Given the description of an element on the screen output the (x, y) to click on. 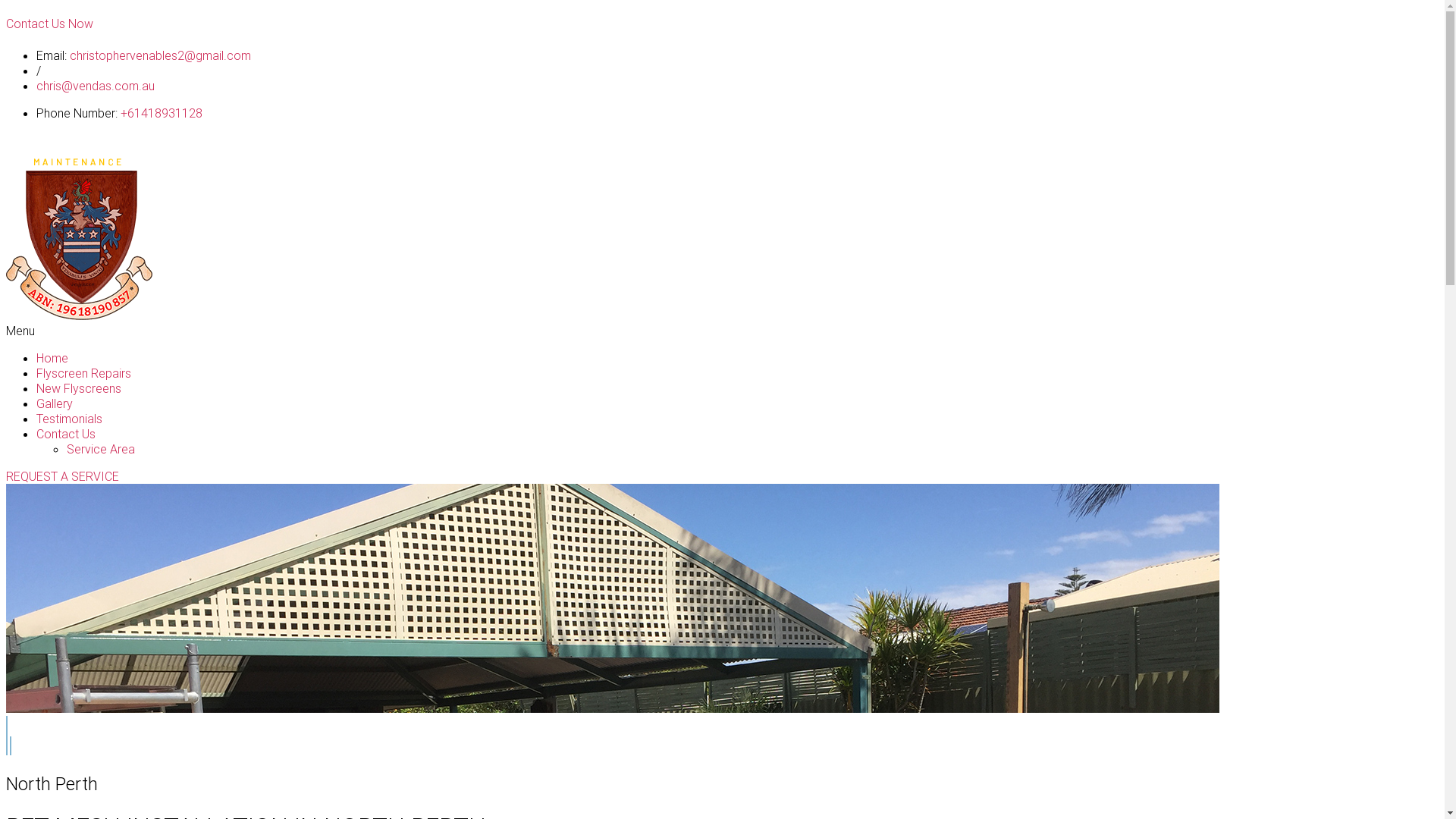
New Flyscreens Element type: text (78, 387)
+61418931128 Element type: text (159, 112)
Gallery Element type: text (54, 403)
chris@vendas.com.au Element type: text (95, 85)
Flyscreen Repairs Element type: text (83, 372)
Testimonials Element type: text (69, 418)
Service Area Element type: text (100, 448)
Contact Us Element type: text (65, 433)
christophervenables2@gmail.com Element type: text (160, 54)
Contact Us Now Element type: text (49, 23)
Home Element type: text (52, 357)
REQUEST A SERVICE Element type: text (62, 475)
